Given the description of an element on the screen output the (x, y) to click on. 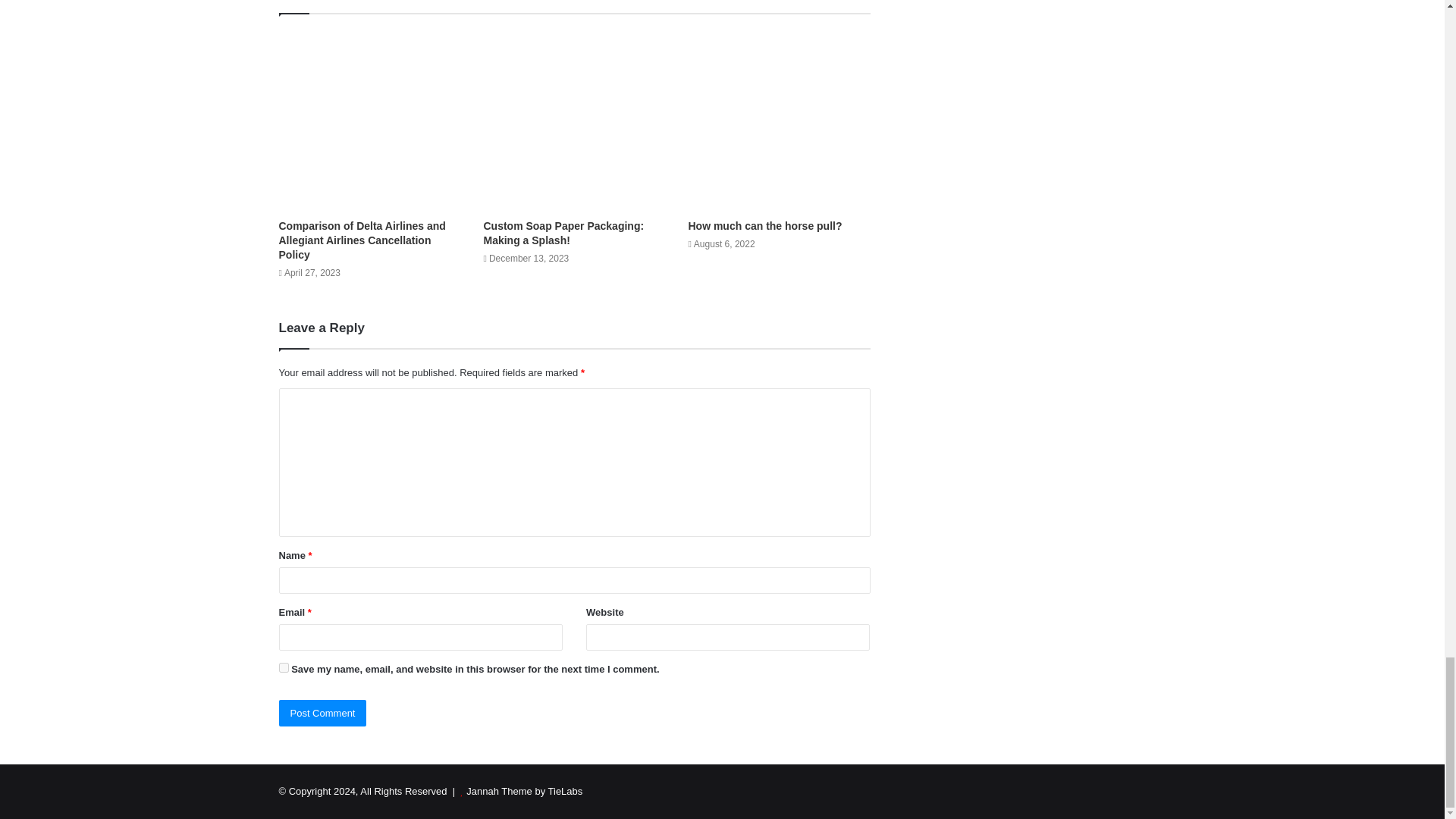
yes (283, 667)
Post Comment (322, 713)
